Given the description of an element on the screen output the (x, y) to click on. 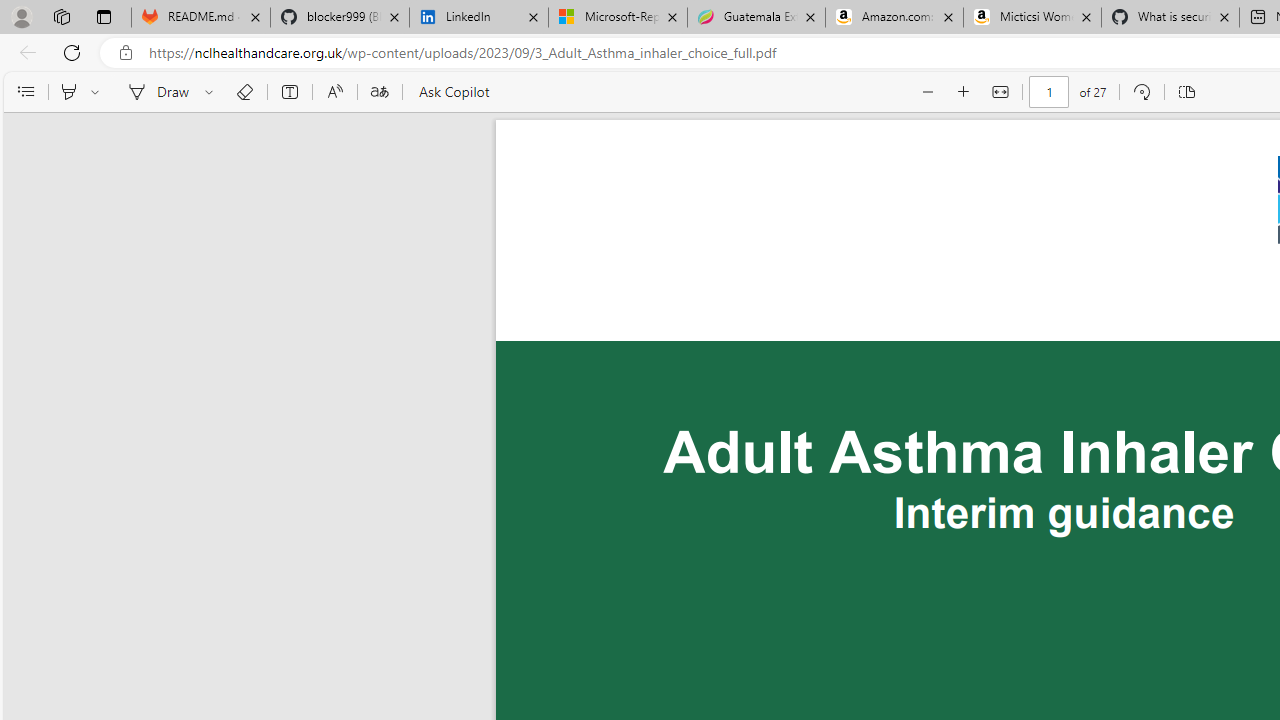
Add text (289, 92)
Contents (25, 92)
Zoom out (Ctrl+Minus key) (928, 92)
Select ink properties (212, 92)
Draw (155, 92)
LinkedIn (478, 17)
Ask Copilot (452, 92)
